Given the description of an element on the screen output the (x, y) to click on. 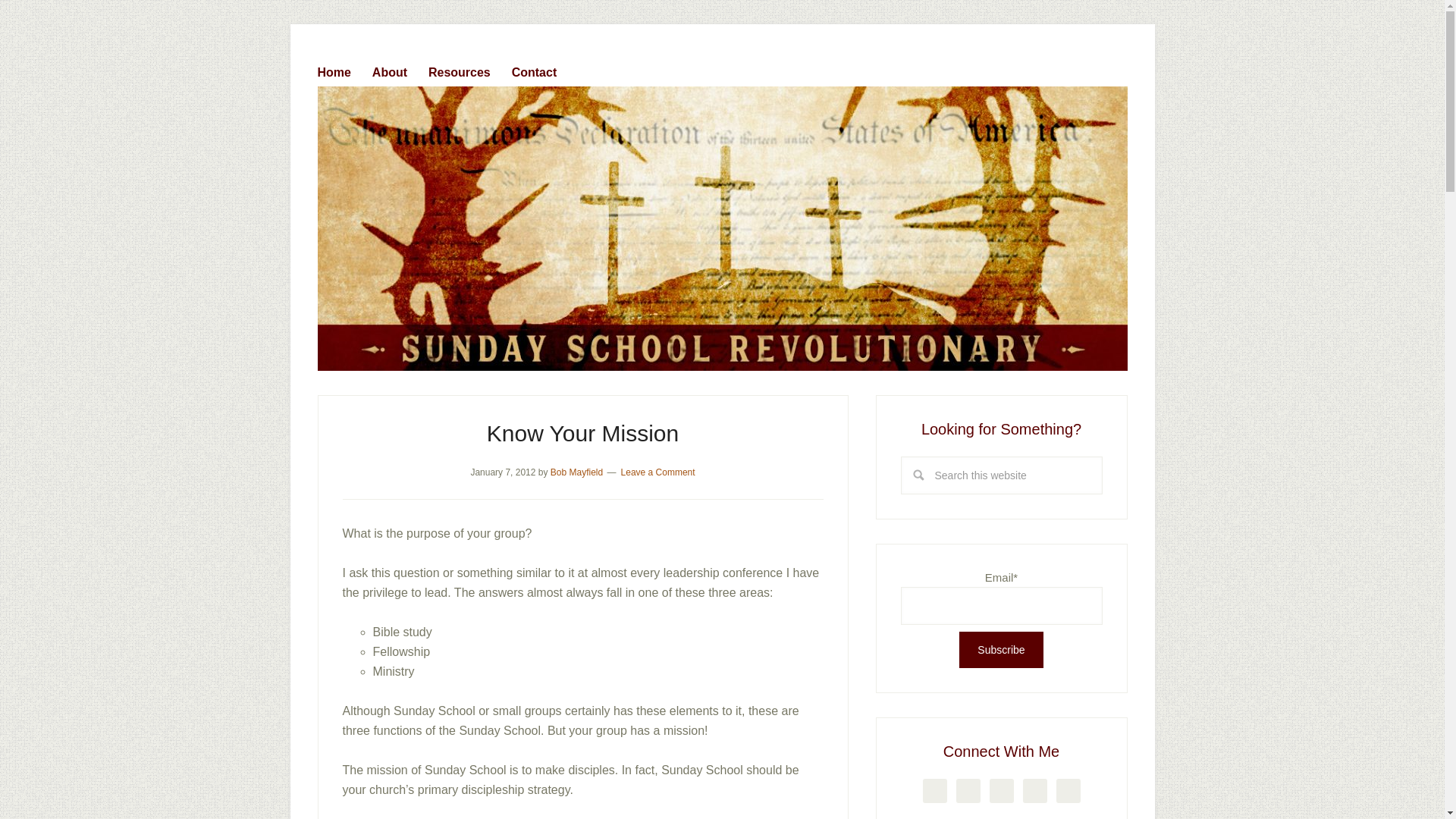
Leave a Comment (658, 471)
Home (342, 68)
Contact (543, 68)
Subscribe (1000, 649)
Bob Mayfield (576, 471)
Resources (468, 68)
Subscribe (1000, 649)
About (398, 68)
